Given the description of an element on the screen output the (x, y) to click on. 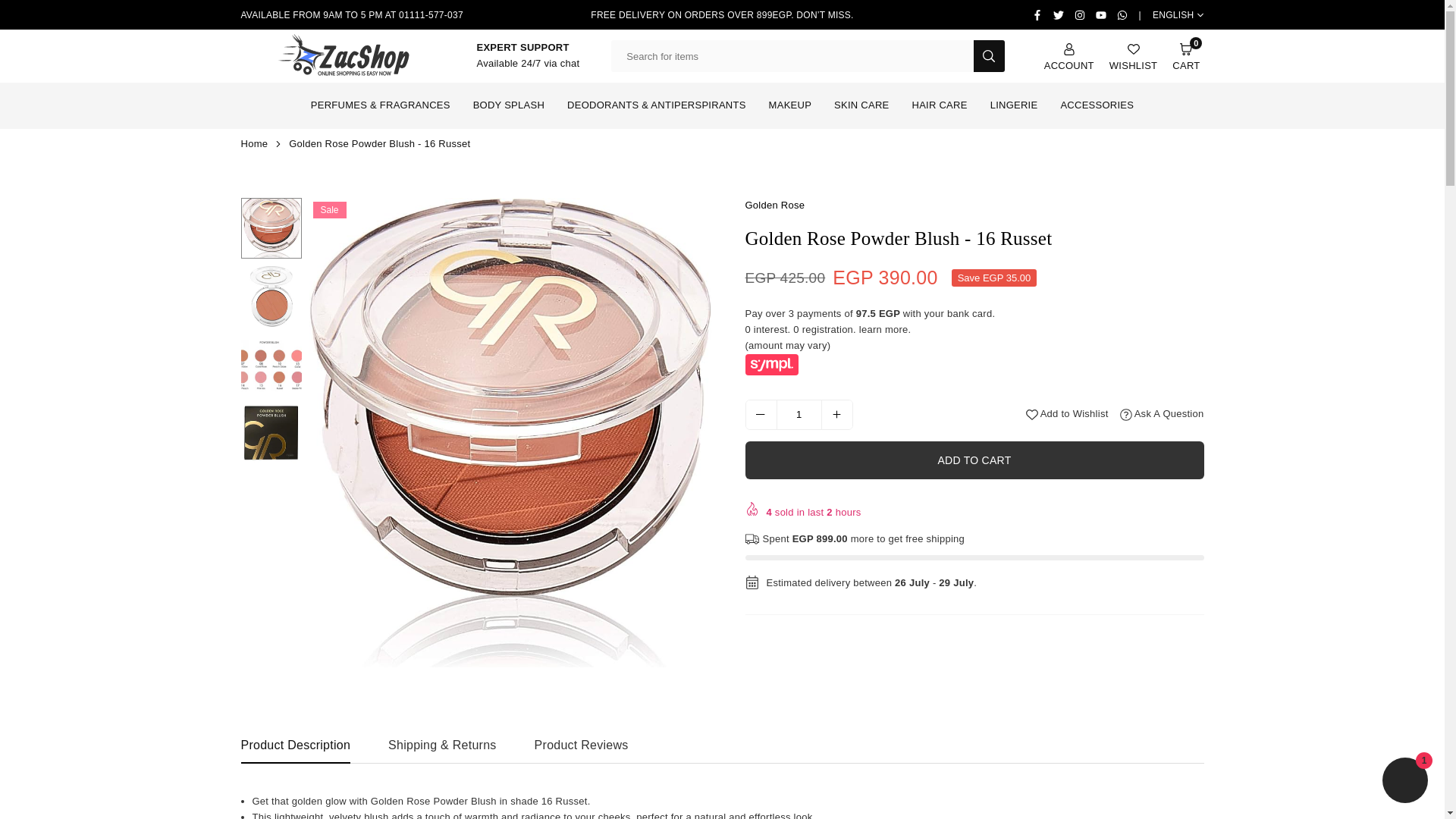
YOUTUBE (1101, 14)
Zacshop on Twitter (1058, 14)
CART (1185, 56)
Back to the home page (255, 143)
ACCOUNT (1069, 56)
WISHLIST (1133, 56)
Zacshop on YouTube (1101, 14)
MAKEUP (789, 105)
Quantity (797, 414)
TWITTER (1058, 14)
Zacshop on Whatsapp (1121, 14)
1 (799, 414)
ZACSHOP (343, 55)
WHATSAPP (1121, 14)
ACCOUNT (1069, 56)
